Given the description of an element on the screen output the (x, y) to click on. 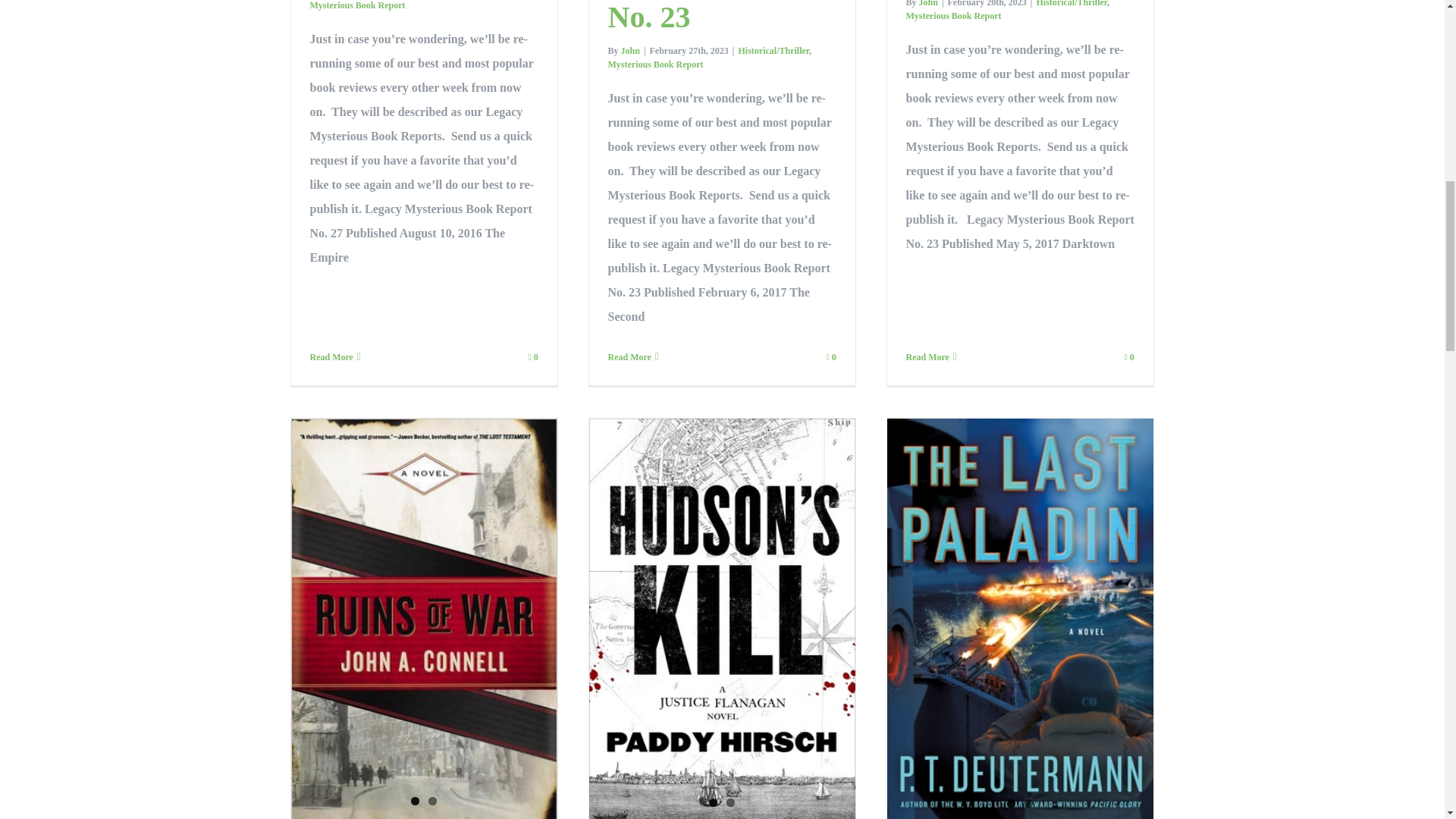
Posts by John (927, 3)
Mysterious Book Report (356, 5)
Read More (330, 357)
Posts by John (630, 50)
 0 (532, 357)
